Given the description of an element on the screen output the (x, y) to click on. 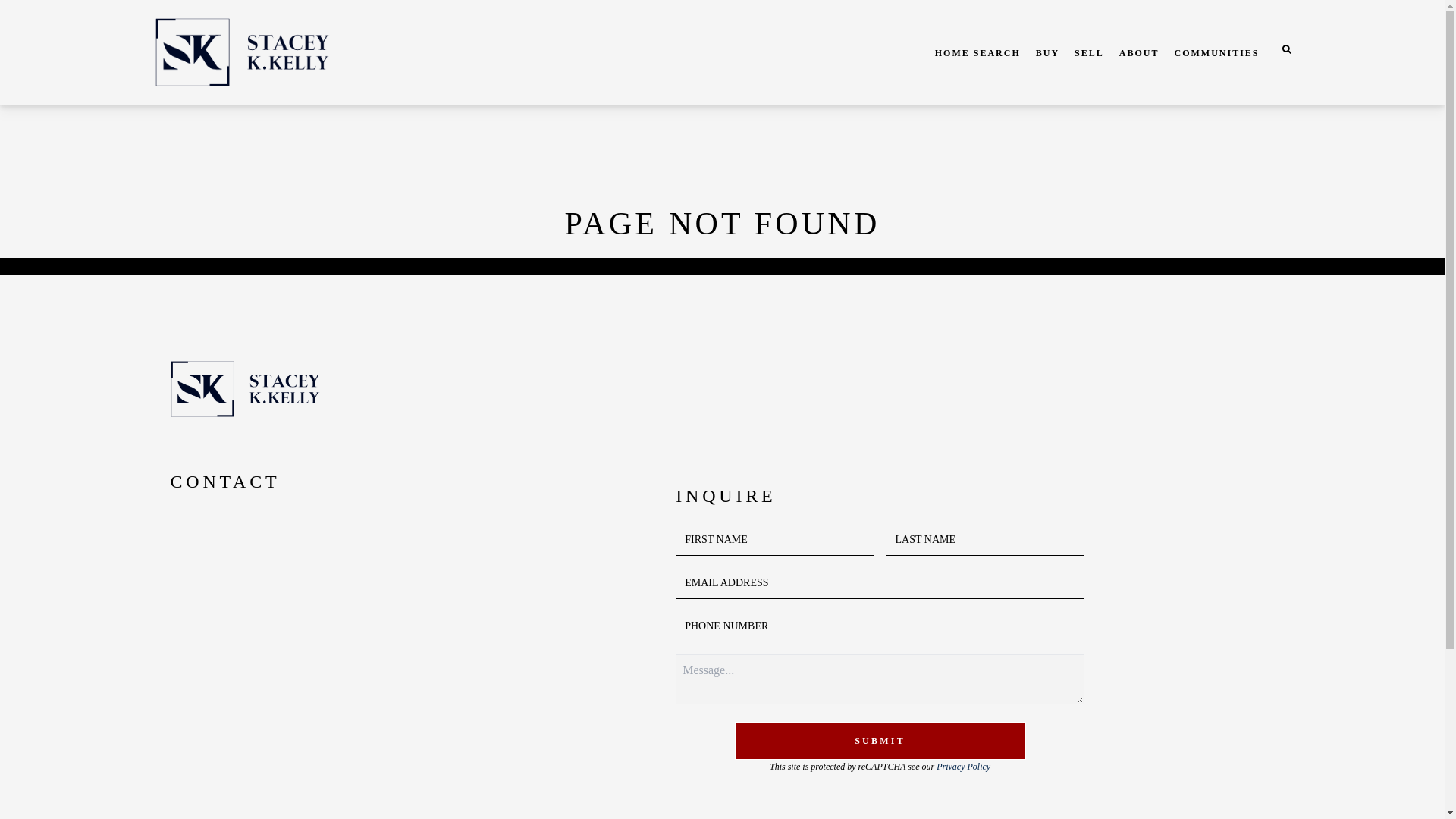
Homepage (285, 52)
HOME SEARCH (977, 52)
SELL (1088, 52)
COMMUNITIES (1216, 52)
BUY (1047, 52)
ABOUT (1138, 52)
